Given the description of an element on the screen output the (x, y) to click on. 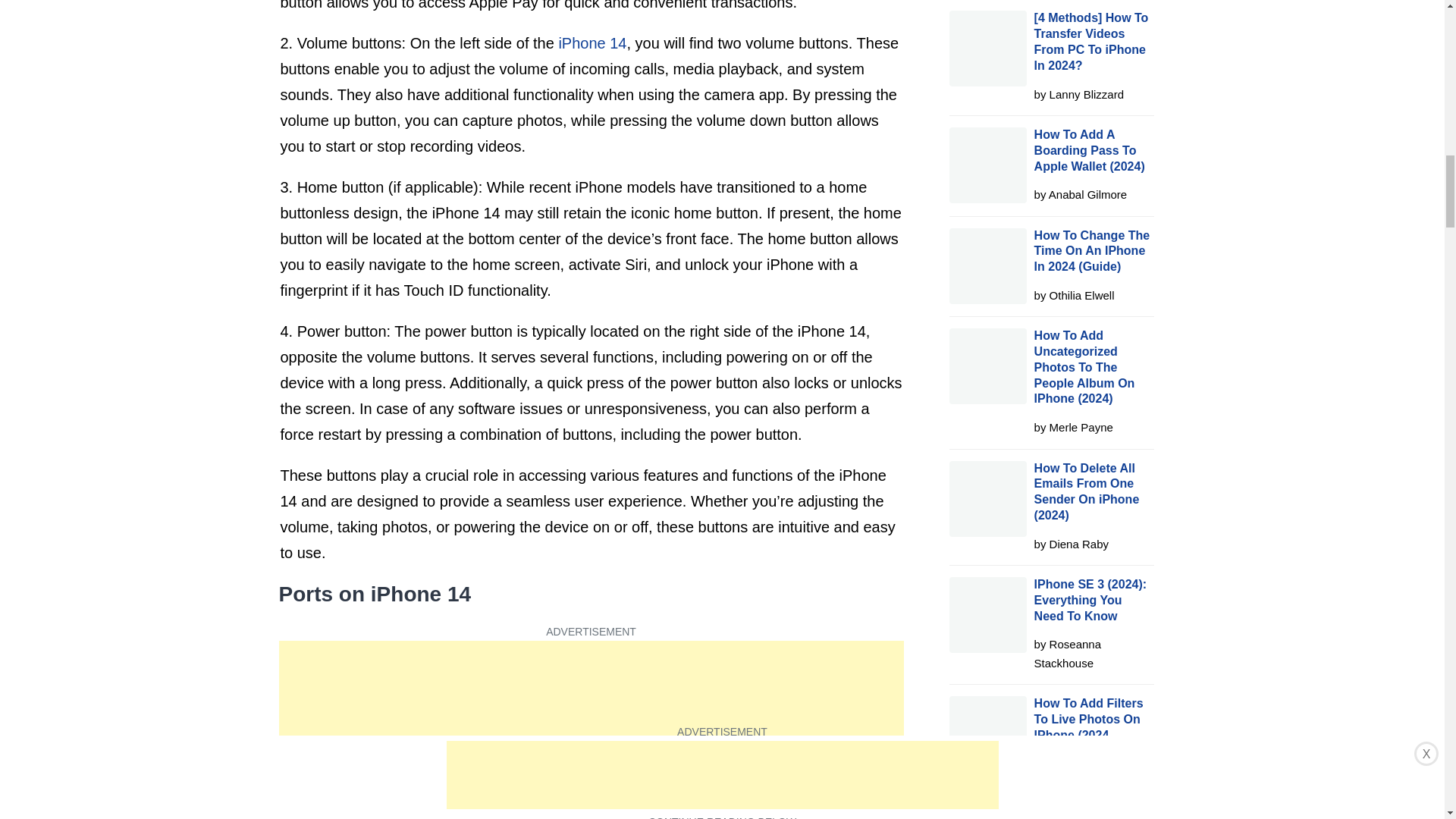
iPhone 14 (591, 43)
